Given the description of an element on the screen output the (x, y) to click on. 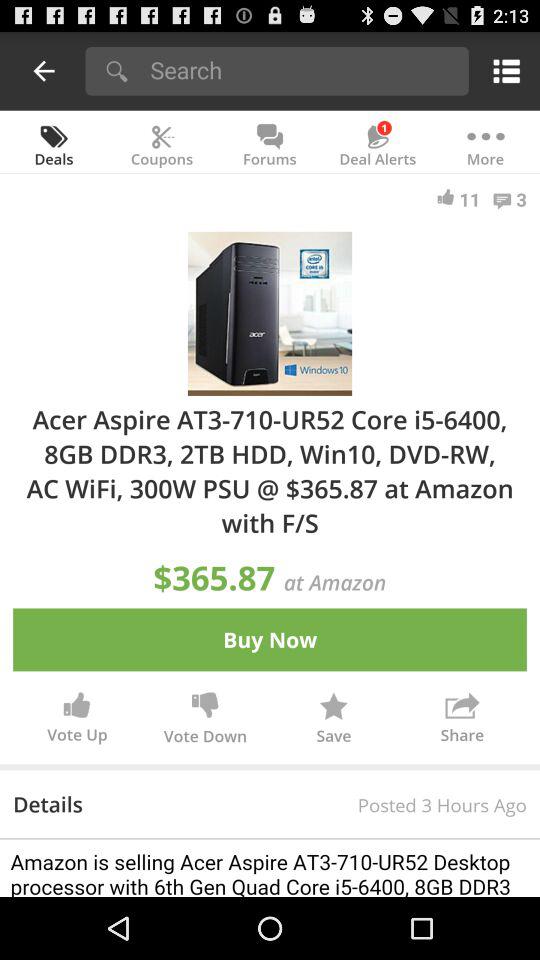
subject details (270, 868)
